Given the description of an element on the screen output the (x, y) to click on. 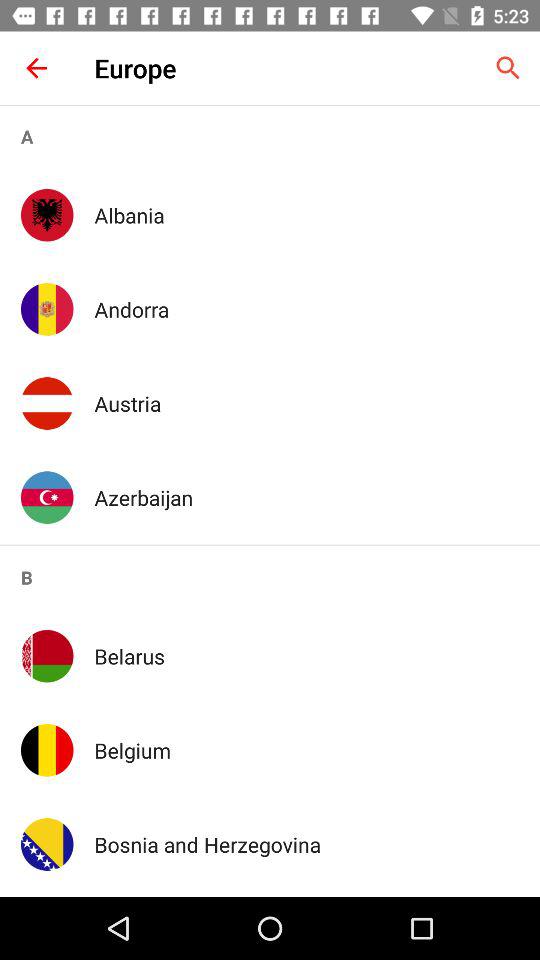
turn off the app to the left of the andorra item (47, 309)
